Given the description of an element on the screen output the (x, y) to click on. 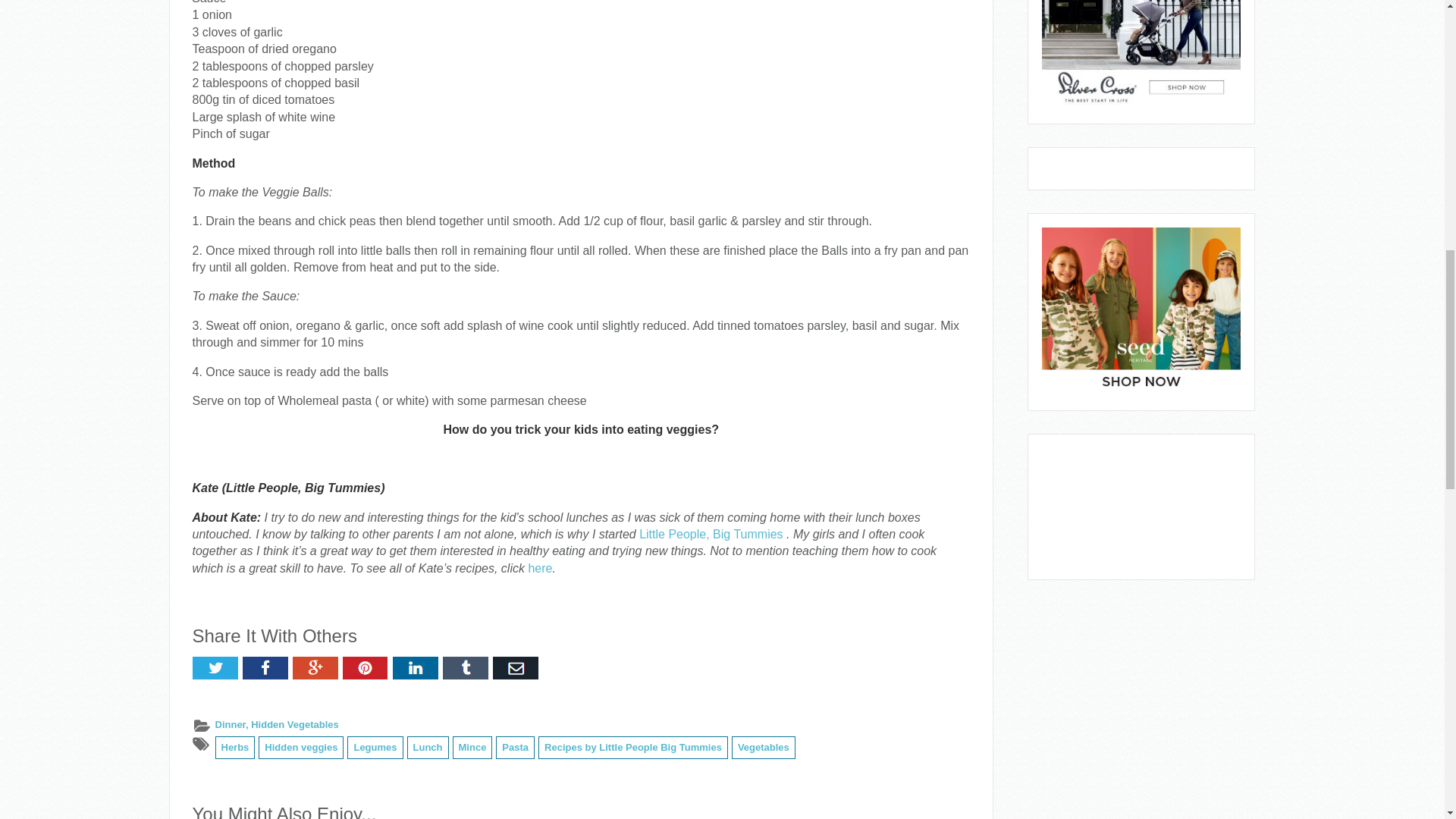
Share on Pinterest (365, 667)
Tweet It (215, 667)
Share on Tumblr (464, 667)
Share on LinkedIn (415, 667)
Share on Facebook (265, 667)
